Given the description of an element on the screen output the (x, y) to click on. 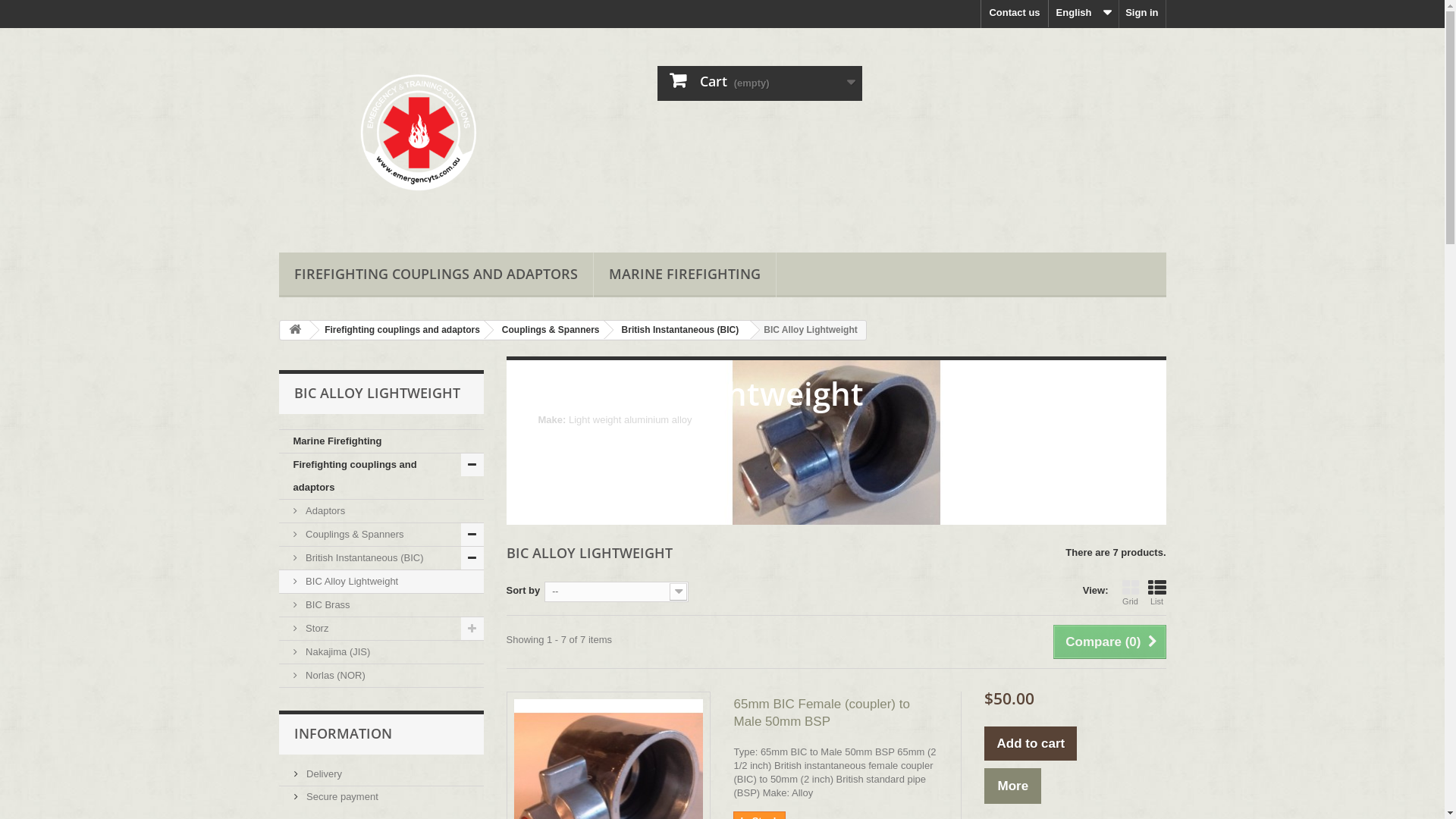
Marine Firefighting Element type: text (381, 441)
BIC Alloy Lightweight Element type: text (381, 581)
More Element type: text (1012, 785)
BIC Brass Element type: text (381, 605)
Emergency & Training Solutions Element type: hover (419, 136)
Cart (empty) Element type: text (759, 82)
Add to cart Element type: text (1030, 743)
Contact us Element type: text (1014, 14)
FIREFIGHTING COUPLINGS AND ADAPTORS Element type: text (436, 274)
British Instantaneous (BIC) Element type: text (677, 329)
Firefighting couplings and adaptors Element type: text (399, 329)
Norlas (NOR) Element type: text (381, 675)
British Instantaneous (BIC) Element type: text (381, 558)
INFORMATION Element type: text (343, 733)
Firefighting couplings and adaptors Element type: text (381, 476)
Compare (0) Element type: text (1109, 641)
Storz Element type: text (381, 628)
Grid Element type: text (1130, 591)
Delivery Element type: text (318, 773)
Sign in Element type: text (1141, 14)
Return to Home Element type: hover (294, 329)
Nakajima (JIS) Element type: text (381, 652)
Adaptors Element type: text (381, 511)
Secure payment Element type: text (336, 796)
List Element type: text (1157, 591)
65mm BIC Female (coupler) to Male 50mm BSP Element type: text (835, 712)
MARINE FIREFIGHTING Element type: text (684, 274)
Couplings & Spanners Element type: text (548, 329)
Couplings & Spanners Element type: text (381, 534)
